Given the description of an element on the screen output the (x, y) to click on. 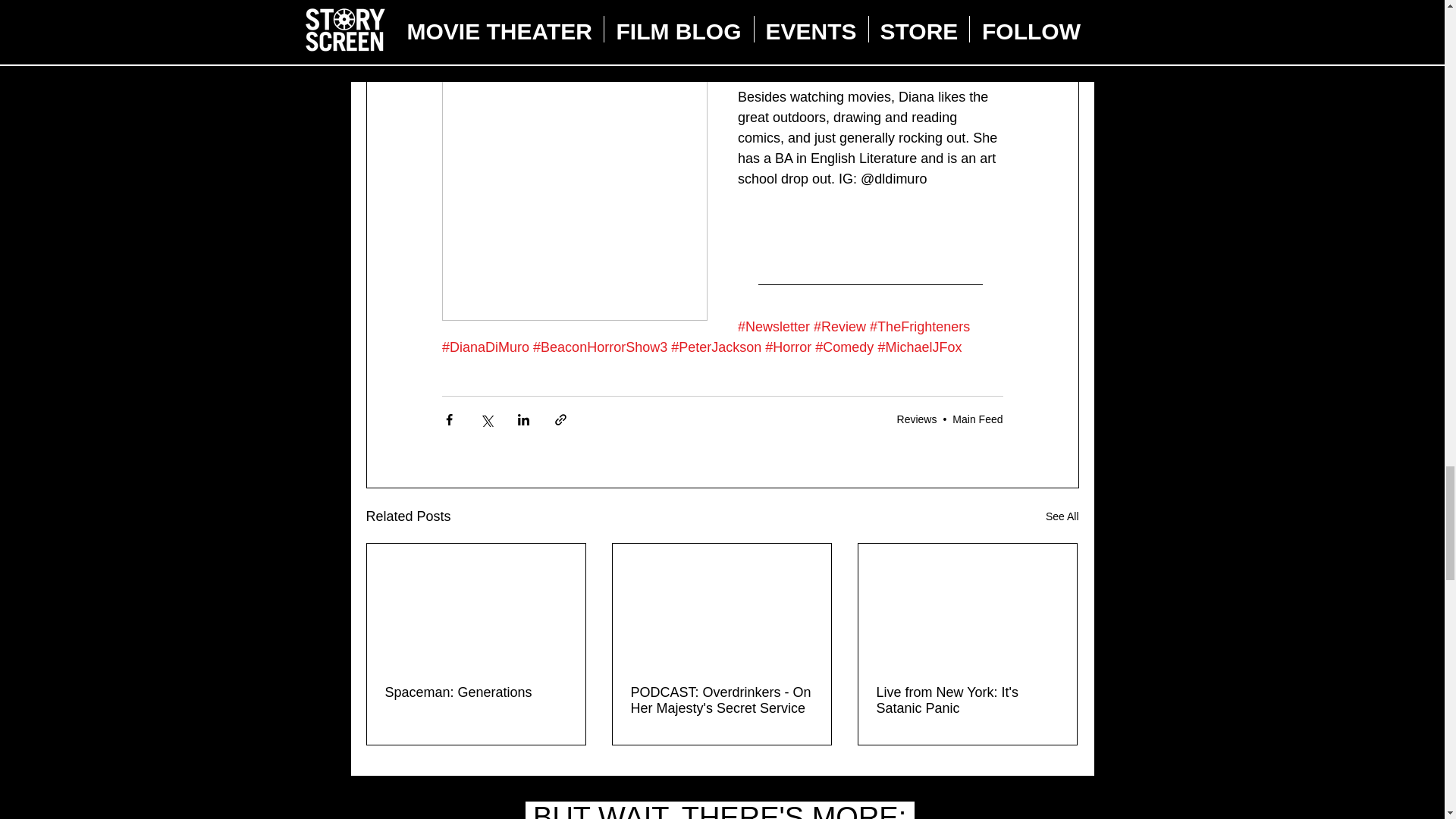
Live from New York: It's Satanic Panic (967, 700)
See All (1061, 516)
PODCAST: Overdrinkers - On Her Majesty's Secret Service (721, 700)
Main Feed (977, 419)
Reviews (916, 419)
Spaceman: Generations (476, 692)
